Given the description of an element on the screen output the (x, y) to click on. 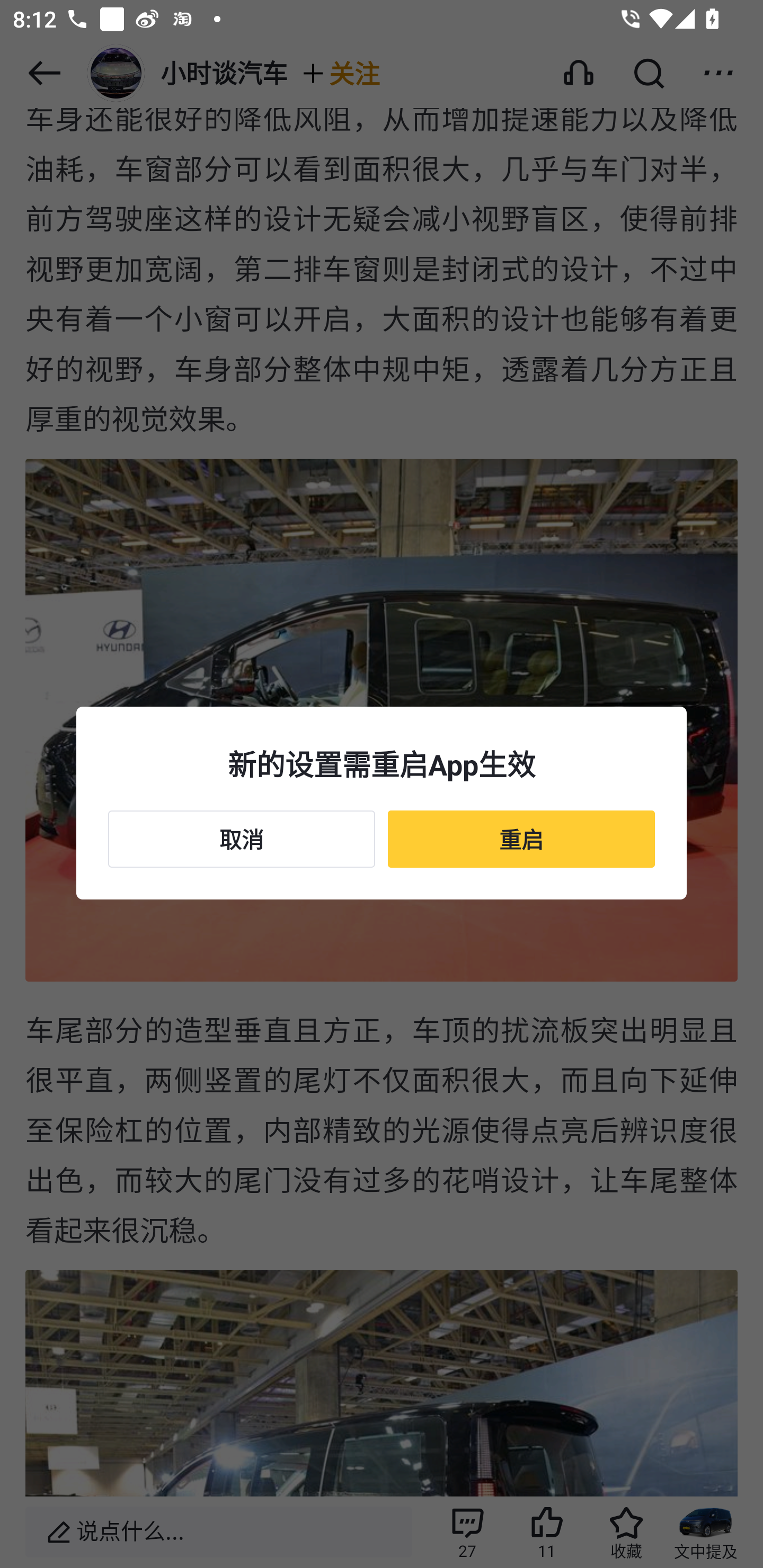
取消 (241, 838)
重启 (520, 838)
